Given the description of an element on the screen output the (x, y) to click on. 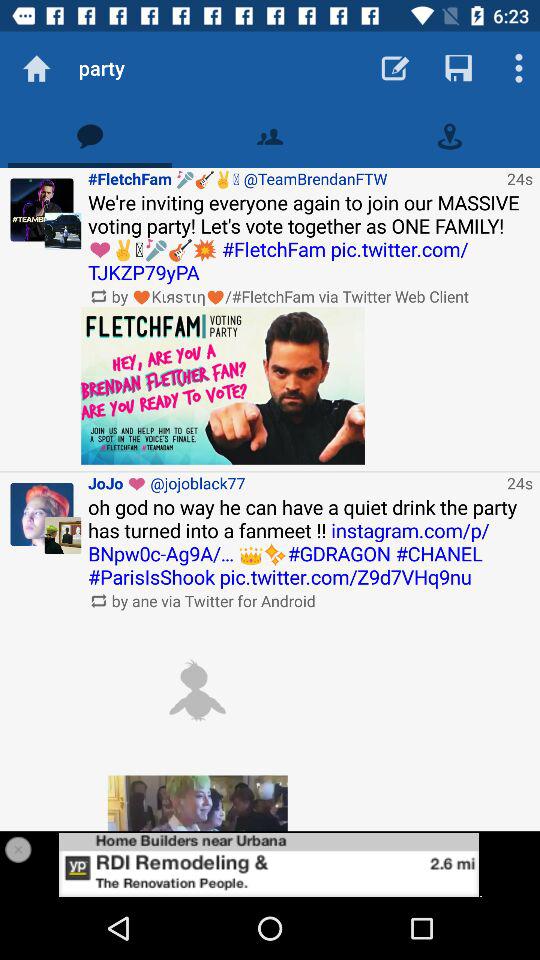
show friends (270, 136)
